Given the description of an element on the screen output the (x, y) to click on. 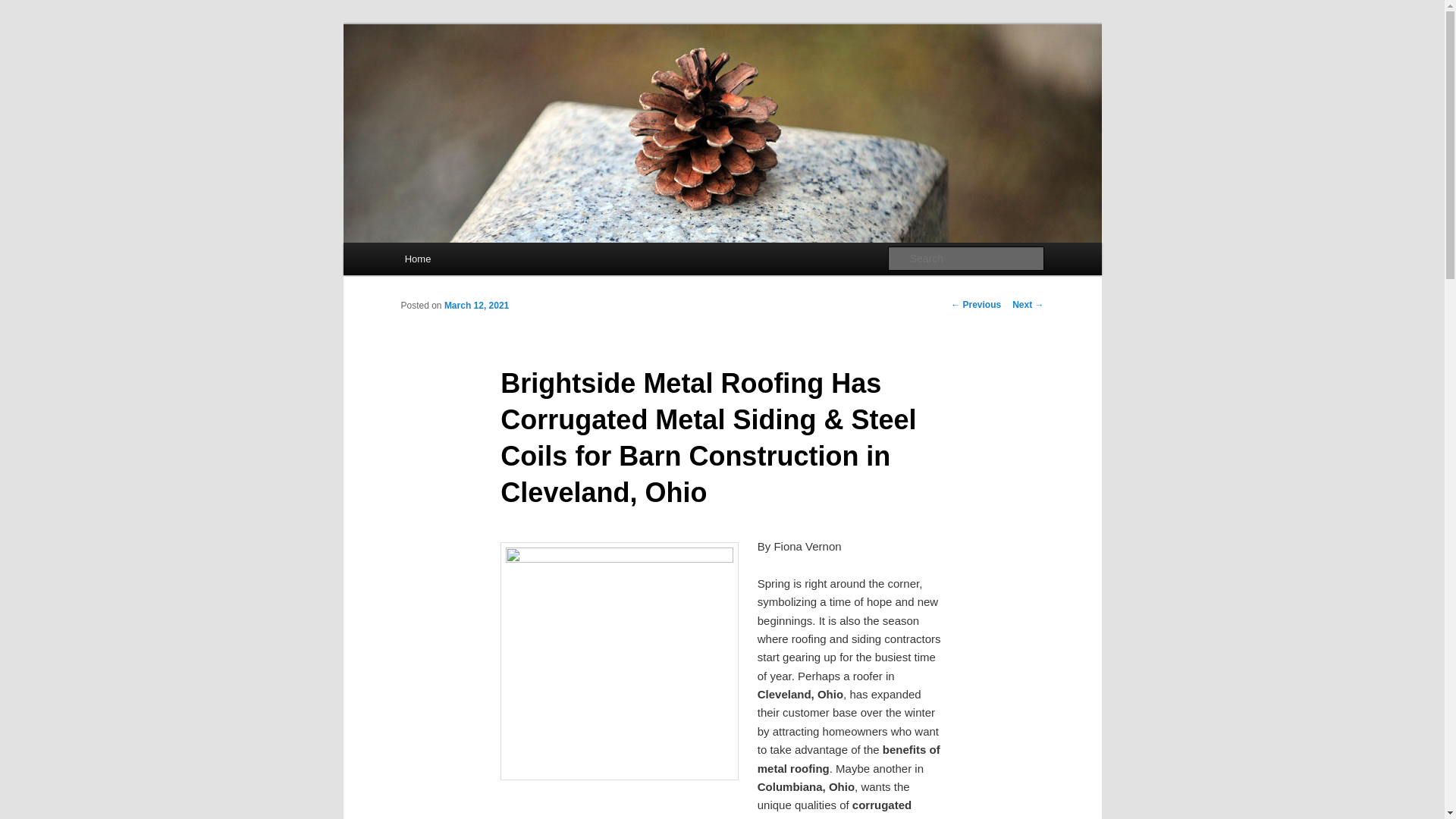
Home (417, 258)
2:39 pm (476, 305)
March 12, 2021 (476, 305)
Search (24, 8)
HourGlass Media (493, 78)
